Given the description of an element on the screen output the (x, y) to click on. 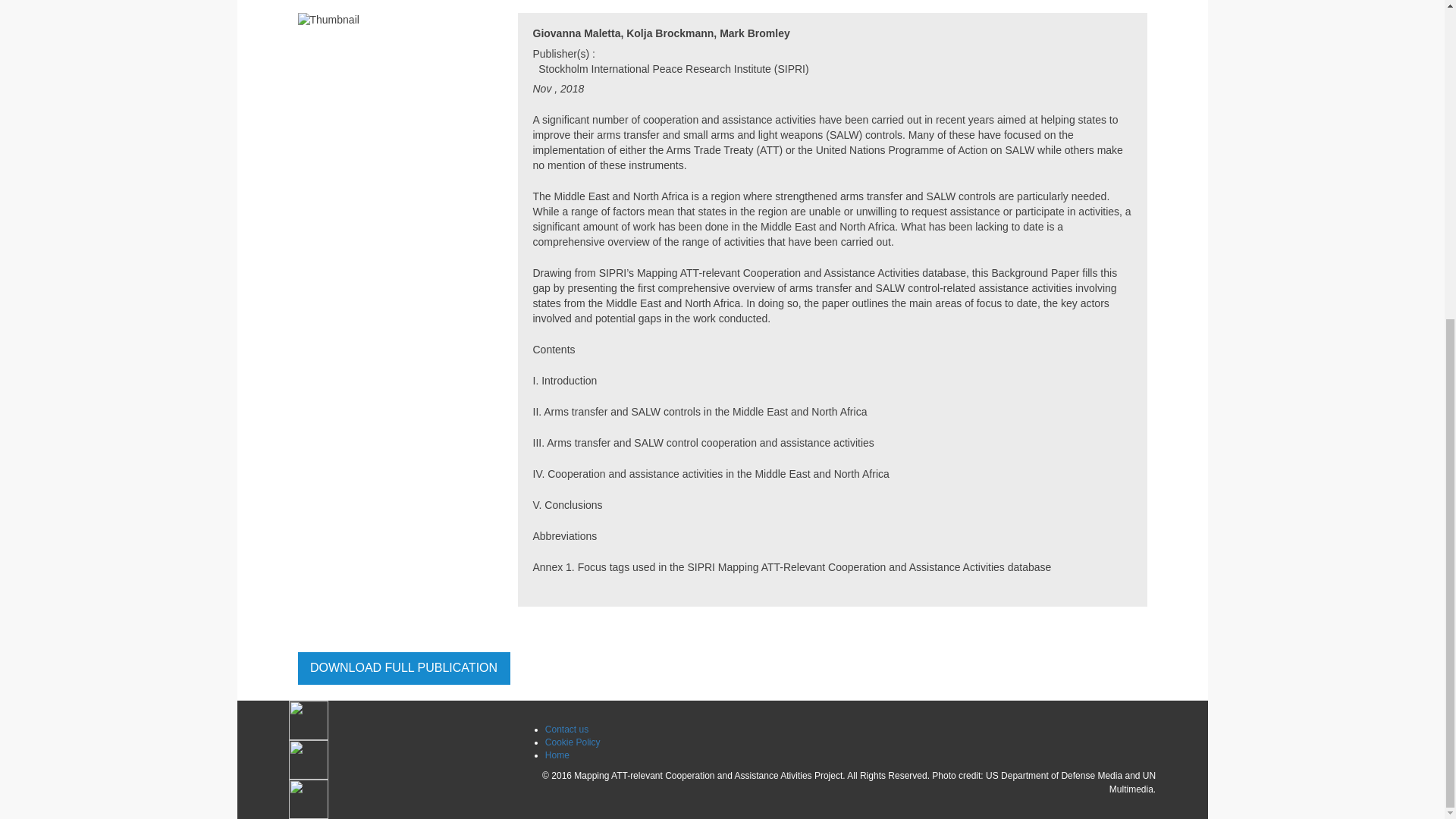
DOWNLOAD FULL PUBLICATION (403, 668)
Home (556, 755)
Imagen (398, 759)
Contact us (566, 728)
Cookie Policy (571, 742)
Imagen (398, 720)
